Given the description of an element on the screen output the (x, y) to click on. 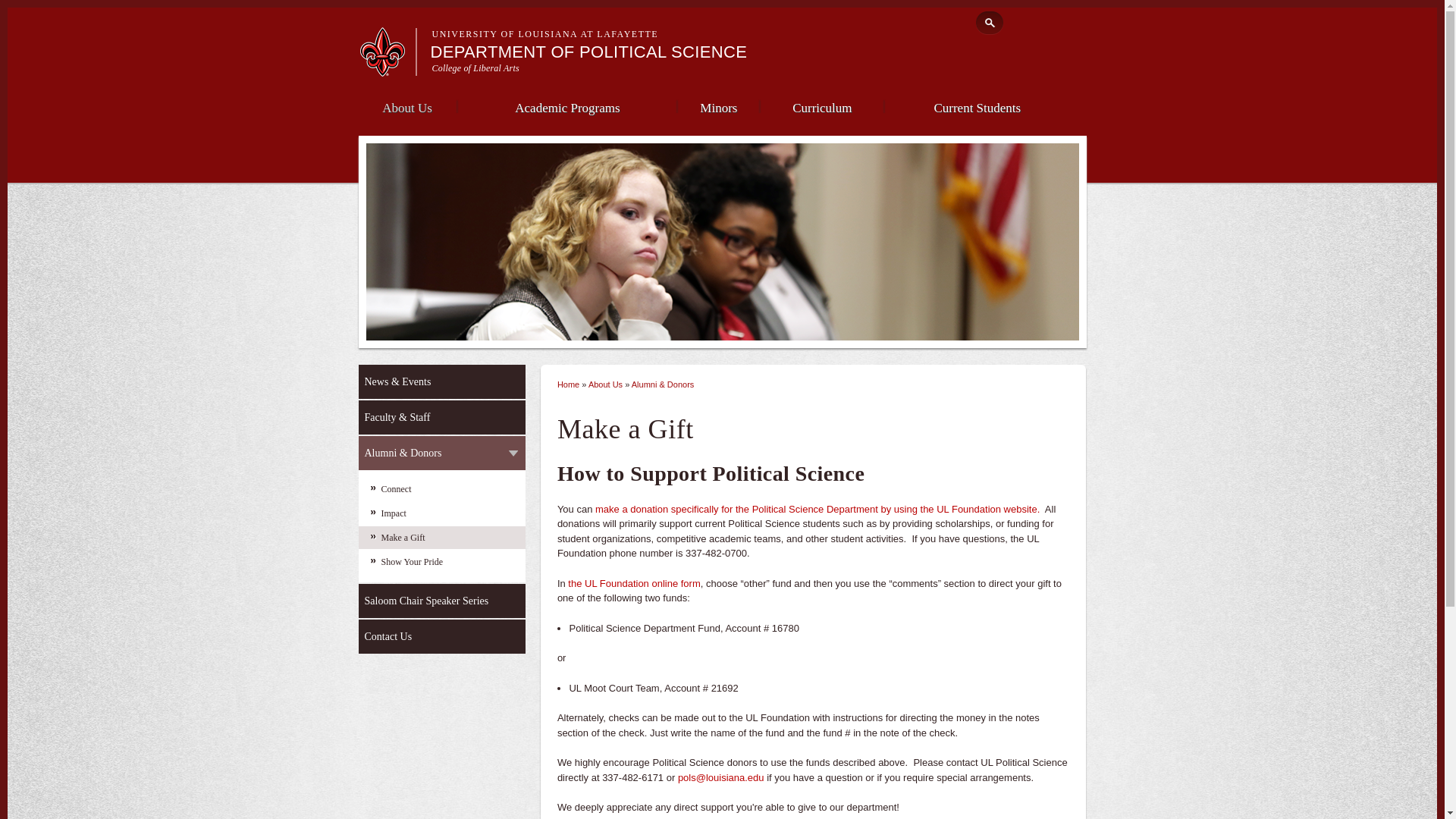
Louisiana.edu (387, 69)
About Us (406, 106)
College of Liberal Arts (475, 68)
Explore (1048, 20)
Skip to main content (693, 1)
UNIVERSITY OF LOUISIANA AT LAFAYETTE (545, 33)
Academic Programs (566, 106)
Home (589, 51)
DEPARTMENT OF POLITICAL SCIENCE (589, 51)
